Given the description of an element on the screen output the (x, y) to click on. 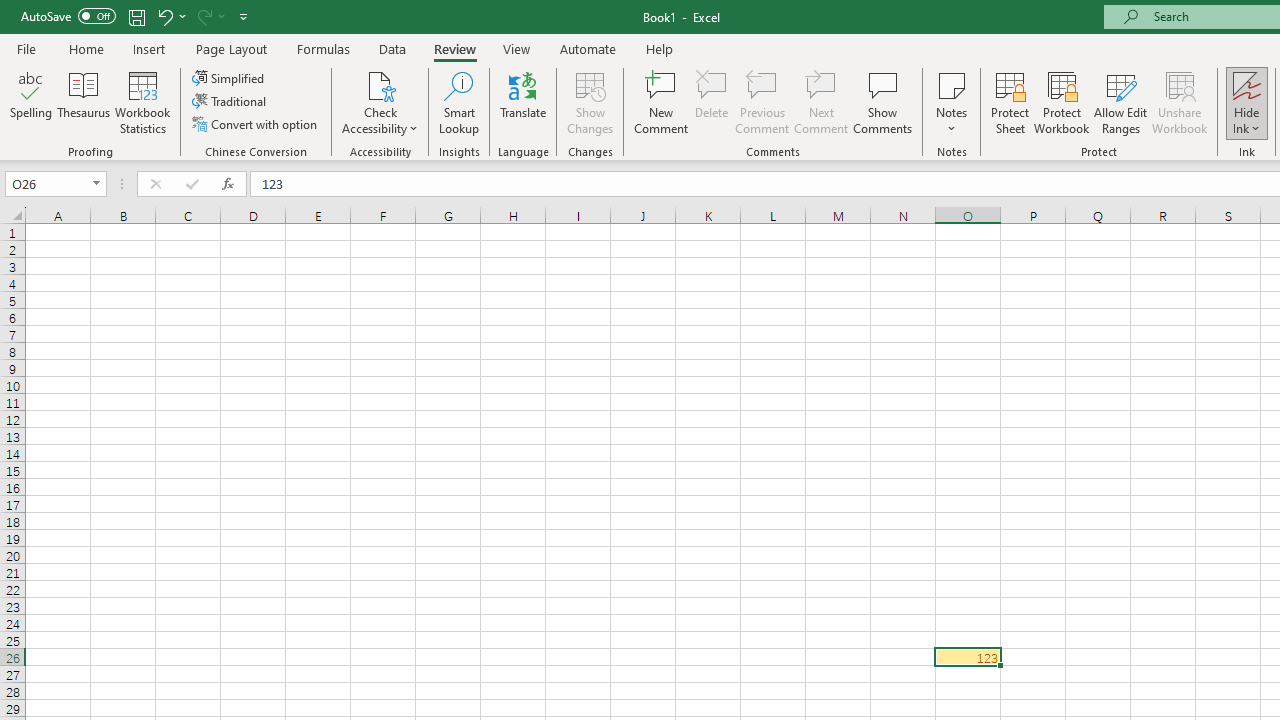
Show Comments (883, 102)
Allow Edit Ranges (1120, 102)
Traditional (230, 101)
